Given the description of an element on the screen output the (x, y) to click on. 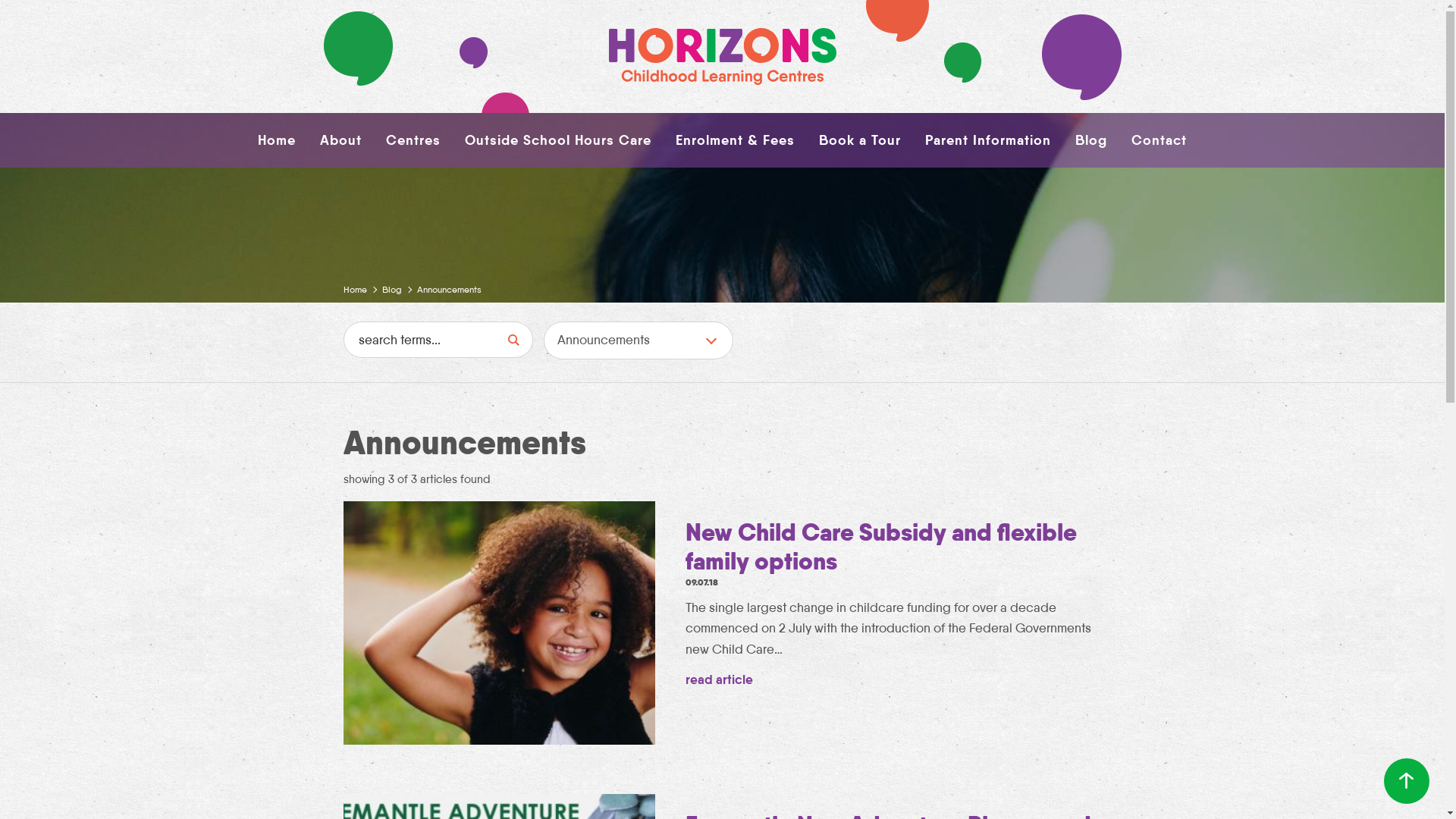
New Child Care Subsidy and flexible family options Element type: text (880, 546)
read article Element type: text (719, 679)
Enrolment & Fees Element type: text (734, 139)
Contact Element type: text (1158, 139)
About Element type: text (340, 139)
Book a Tour Element type: text (859, 139)
Centres Element type: text (412, 139)
Parent Information Element type: text (988, 139)
Search Element type: text (513, 339)
back to top Element type: text (1406, 780)
Blog Element type: text (1091, 139)
Blog Element type: text (399, 288)
Outside School Hours Care Element type: text (557, 139)
Home Element type: text (276, 139)
Home Element type: text (361, 288)
